Given the description of an element on the screen output the (x, y) to click on. 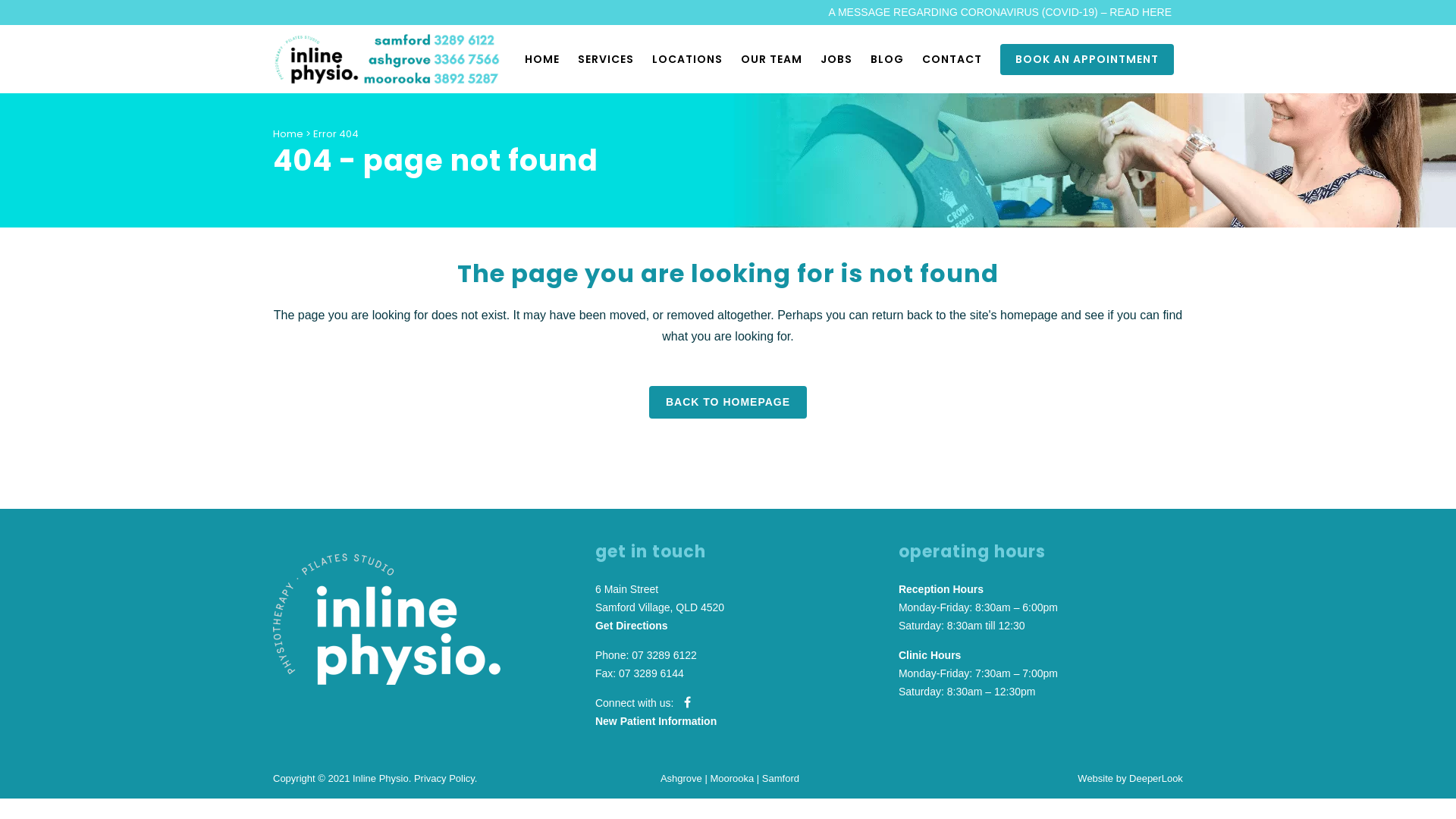
Moorooka Element type: text (731, 777)
Get Directions Element type: text (631, 625)
DeeperLook Element type: text (1156, 777)
Privacy Policy. Element type: text (445, 777)
LOCATIONS Element type: text (687, 59)
BOOK AN APPOINTMENT Element type: text (1087, 59)
OUR TEAM Element type: text (771, 59)
Ashgrove Element type: text (681, 777)
HOME Element type: text (541, 59)
CONTACT Element type: text (952, 59)
JOBS Element type: text (836, 59)
Home Element type: text (288, 133)
BLOG Element type: text (887, 59)
Samford Element type: text (780, 777)
New Patient Information Element type: text (655, 721)
SERVICES Element type: text (605, 59)
BACK TO HOMEPAGE Element type: text (727, 401)
